Given the description of an element on the screen output the (x, y) to click on. 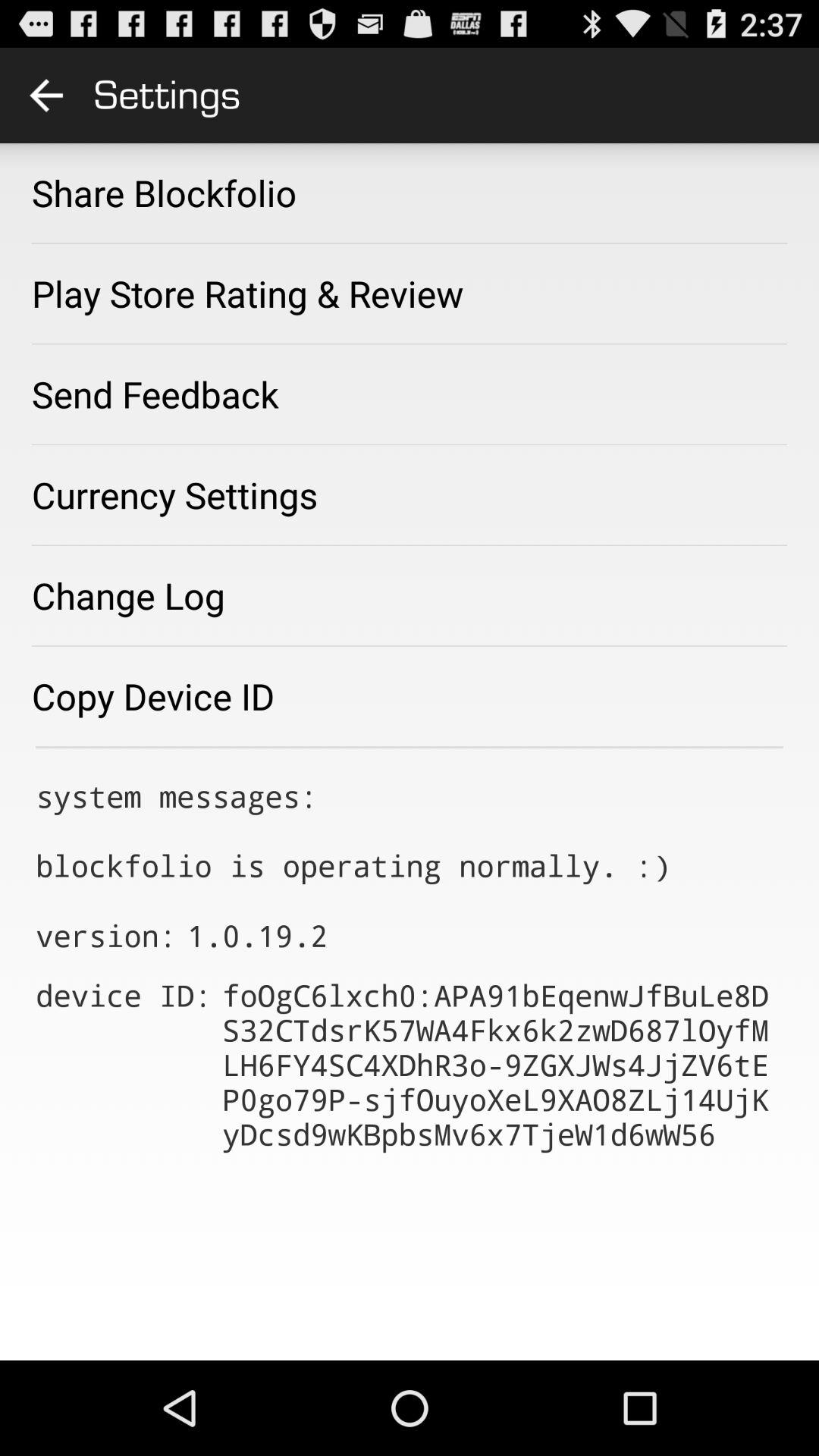
open the 1 0 19 icon (257, 935)
